Given the description of an element on the screen output the (x, y) to click on. 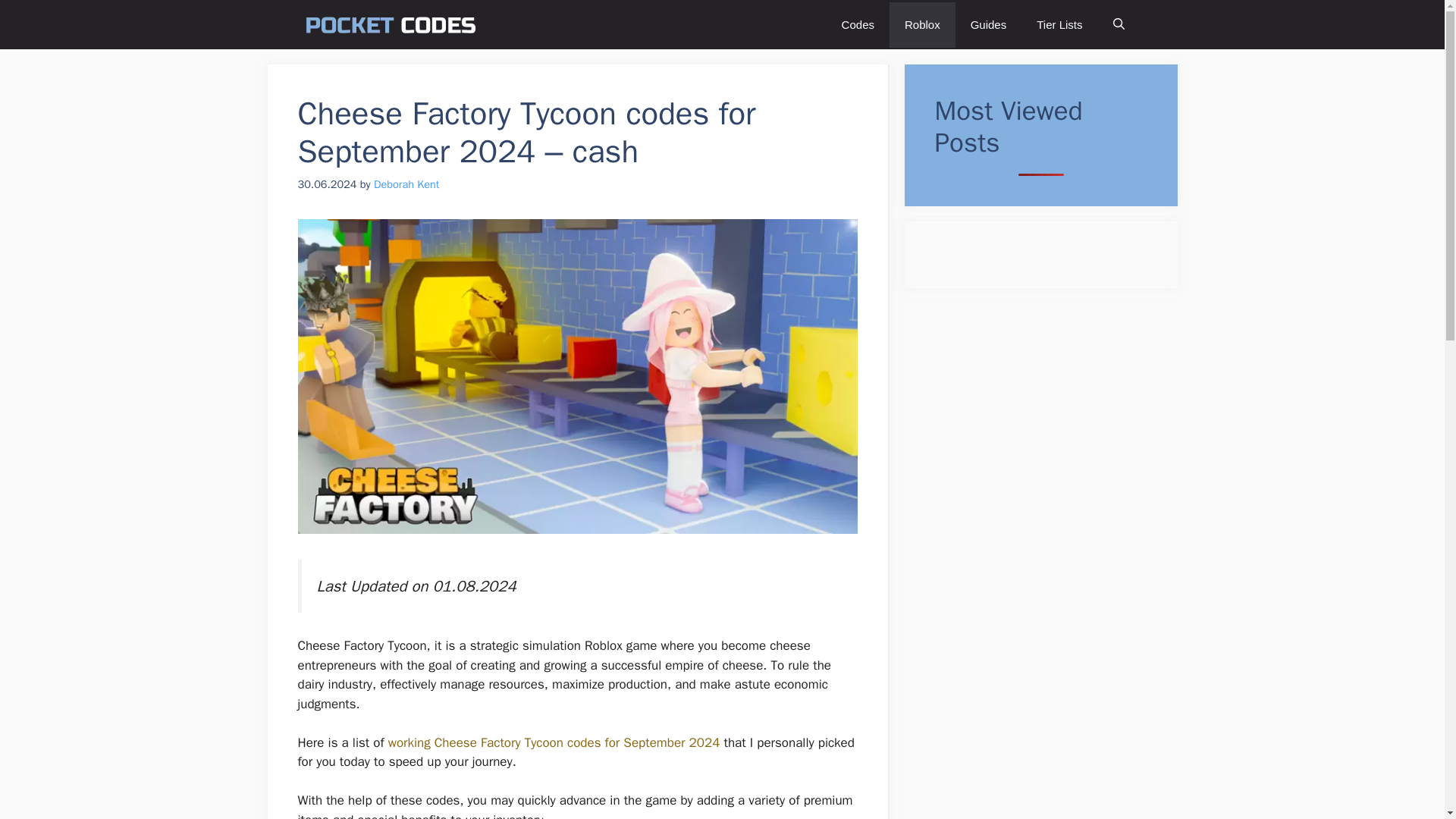
Guides (988, 23)
View all posts by Deborah Kent (406, 183)
Roblox (922, 23)
Deborah Kent (406, 183)
Tier Lists (1059, 23)
Codes (858, 23)
